Given the description of an element on the screen output the (x, y) to click on. 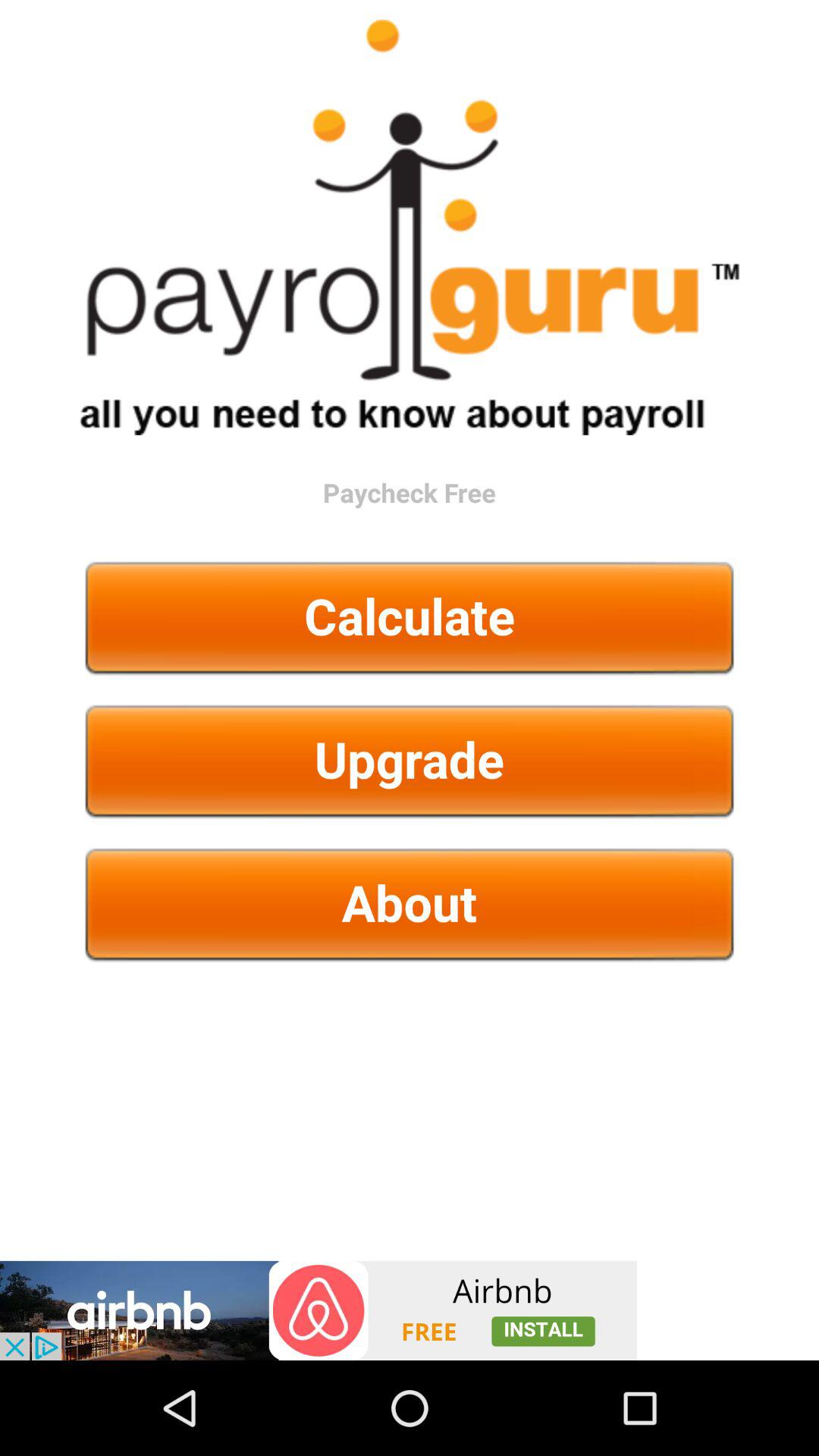
click advertisement to go to advertisement page (318, 1310)
